Given the description of an element on the screen output the (x, y) to click on. 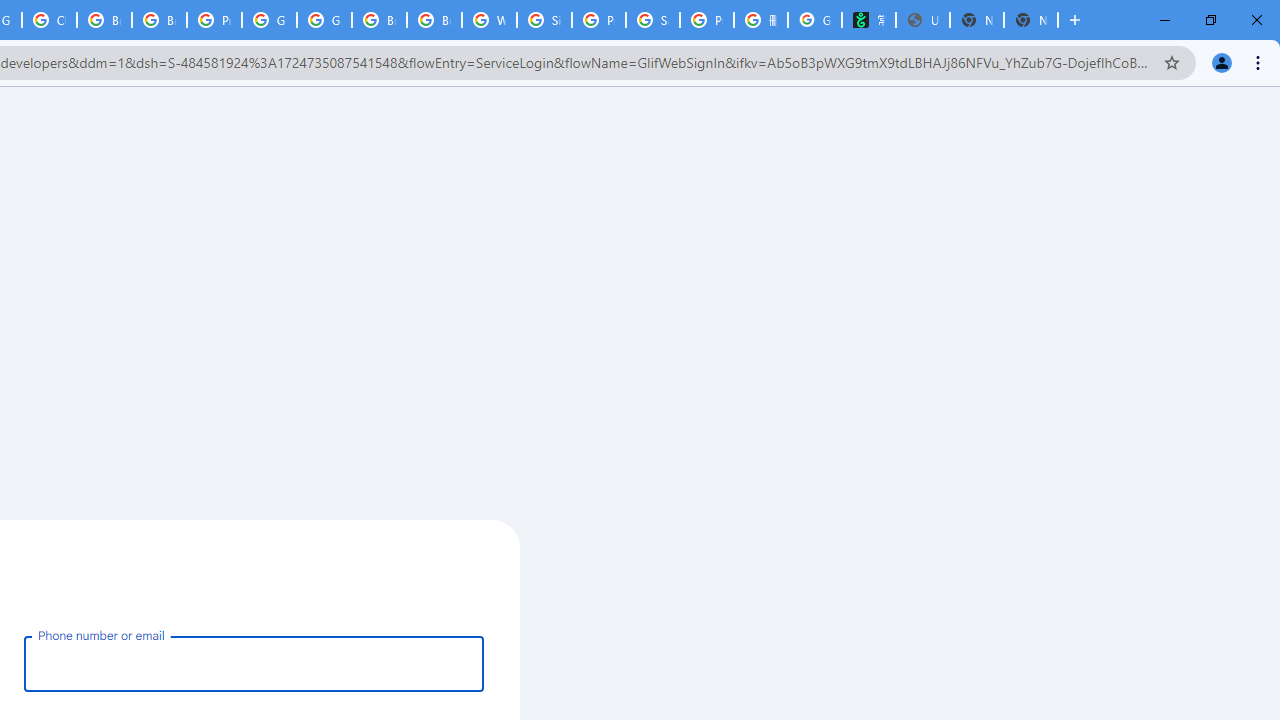
New Tab (1030, 20)
Google Cloud Platform (324, 20)
Sign in - Google Accounts (544, 20)
Browse Chrome as a guest - Computer - Google Chrome Help (103, 20)
Google Cloud Platform (268, 20)
